Given the description of an element on the screen output the (x, y) to click on. 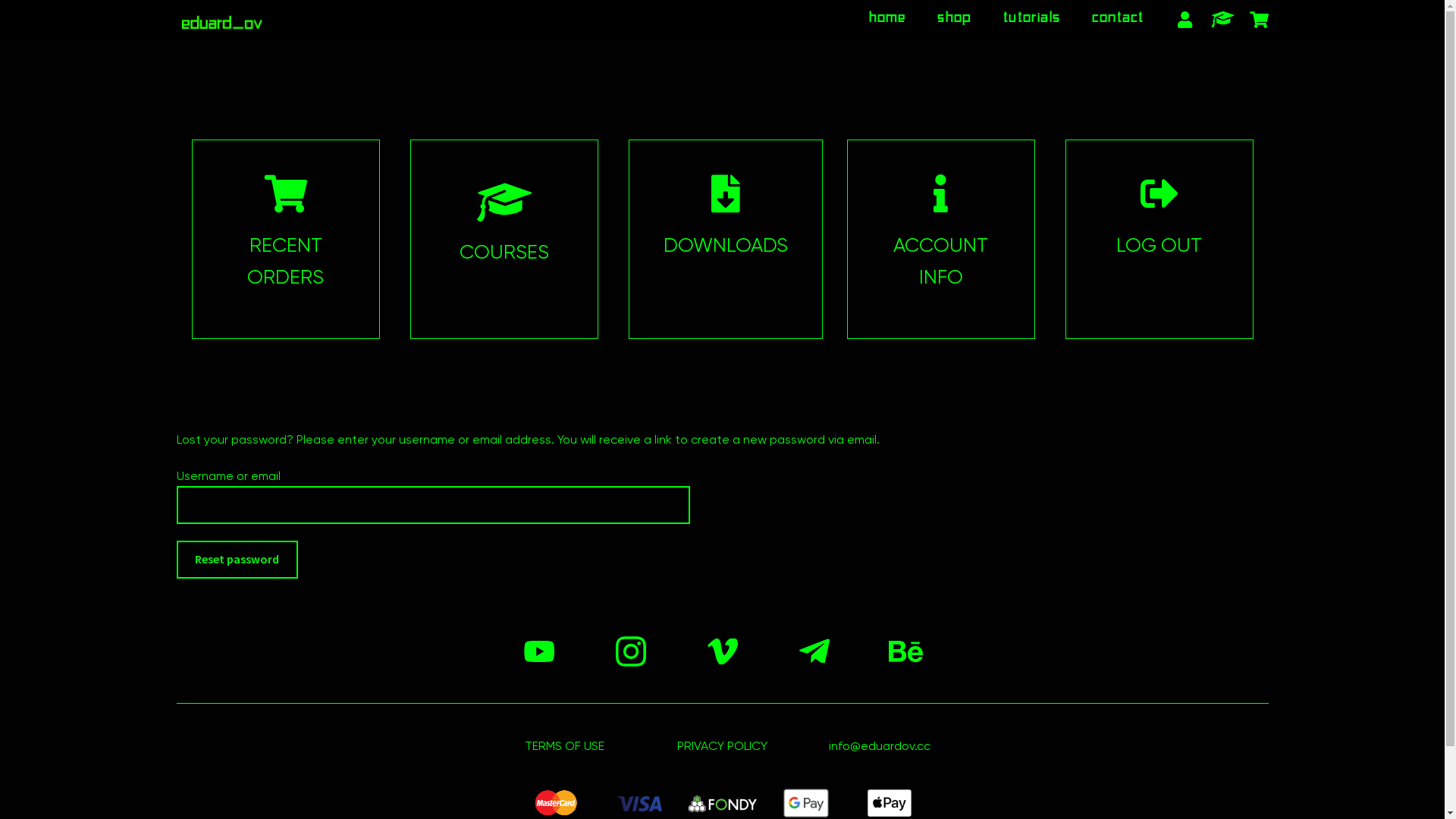
RECENT ORDERS Element type: text (285, 260)
ACCOUNT INFO Element type: text (940, 260)
TERMS OF USE Element type: text (564, 745)
PRIVACY POLICY Element type: text (722, 745)
Reset password Element type: text (236, 559)
LOG OUT Element type: text (1158, 244)
tutorials Element type: text (1031, 15)
COURSES Element type: text (504, 251)
contact Element type: text (1117, 15)
home Element type: text (887, 15)
shop Element type: text (954, 15)
info@eduardov.cc Element type: text (879, 745)
DOWNLOADS Element type: text (724, 244)
